Given the description of an element on the screen output the (x, y) to click on. 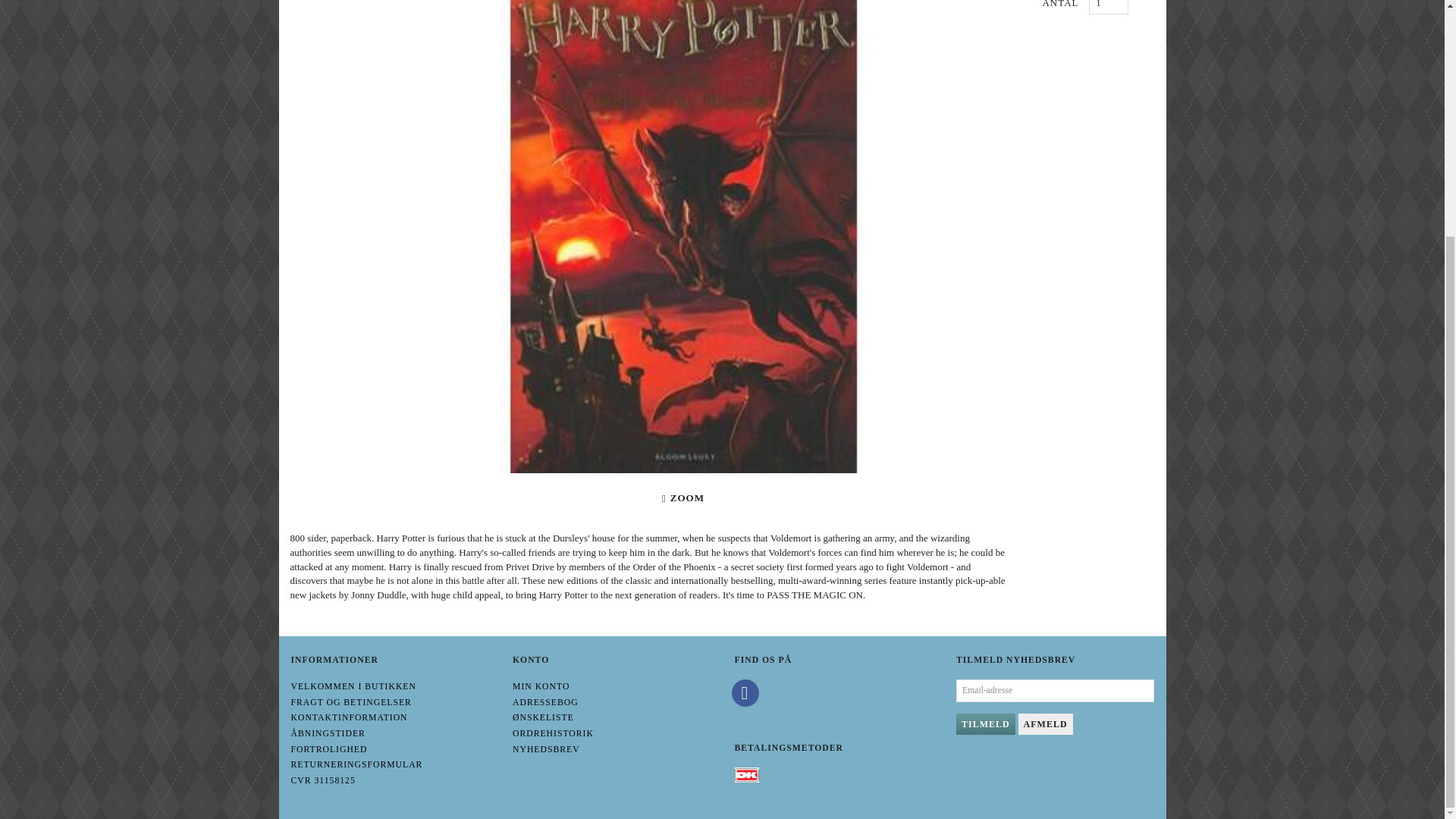
1 (1108, 7)
